Given the description of an element on the screen output the (x, y) to click on. 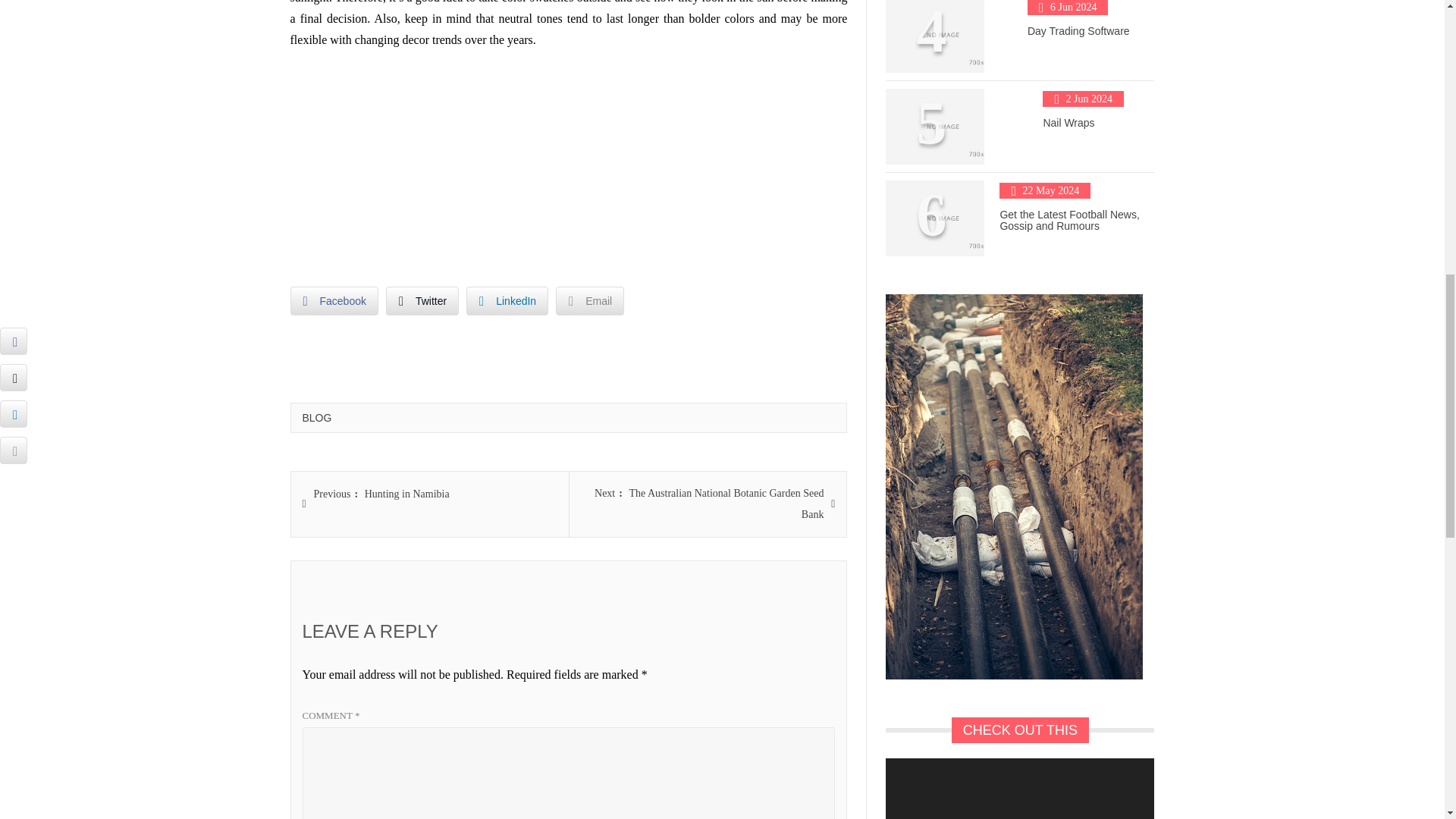
Email (590, 300)
BLOG (380, 494)
Facebook (316, 417)
Twitter (333, 300)
LinkedIn (421, 300)
